Given the description of an element on the screen output the (x, y) to click on. 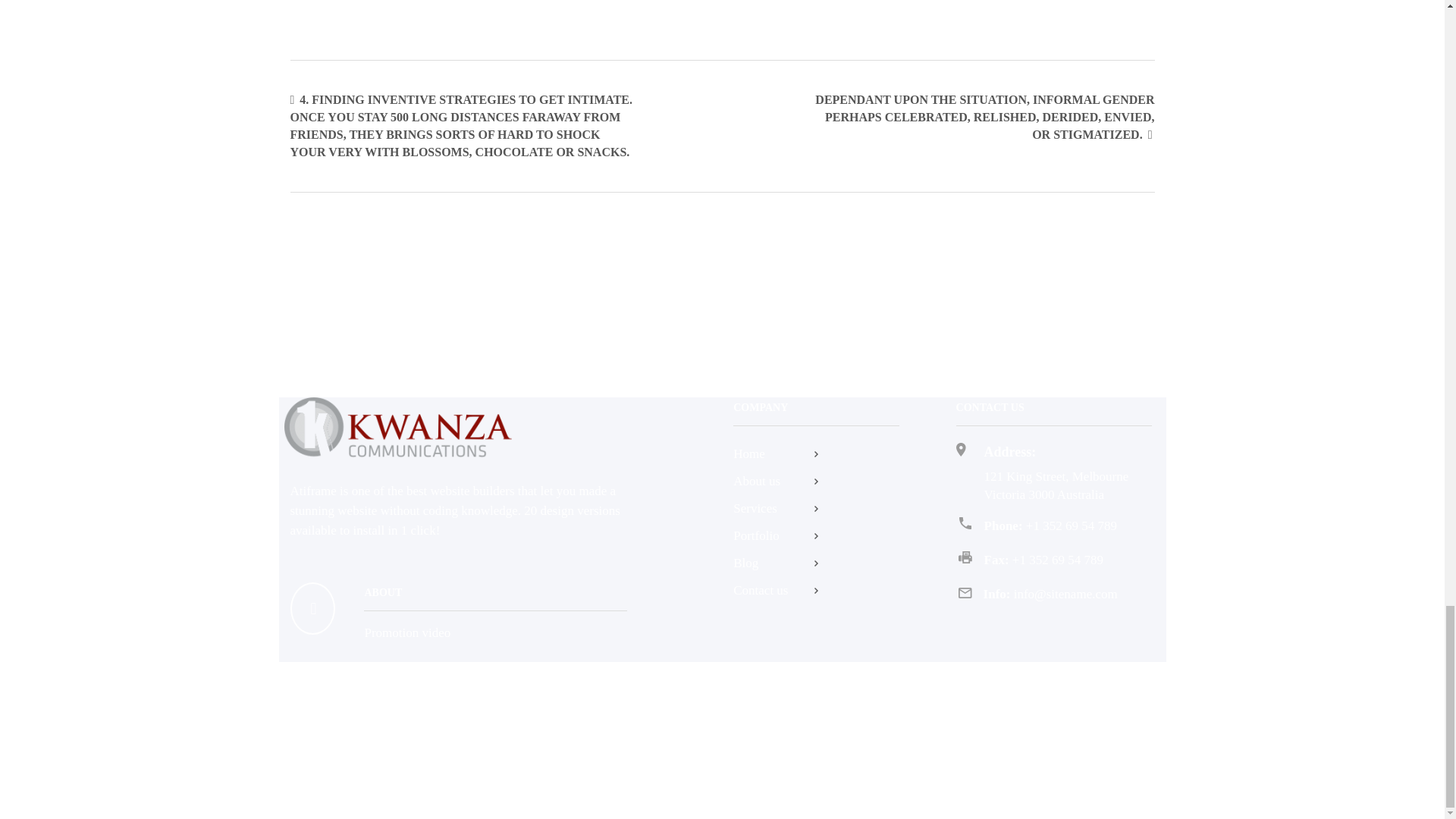
Blog (815, 563)
Twitter (1135, 733)
Services (815, 508)
Portfolio (815, 536)
Home (815, 454)
Contact us (815, 590)
About us (815, 481)
Facebook (1087, 733)
